Given the description of an element on the screen output the (x, y) to click on. 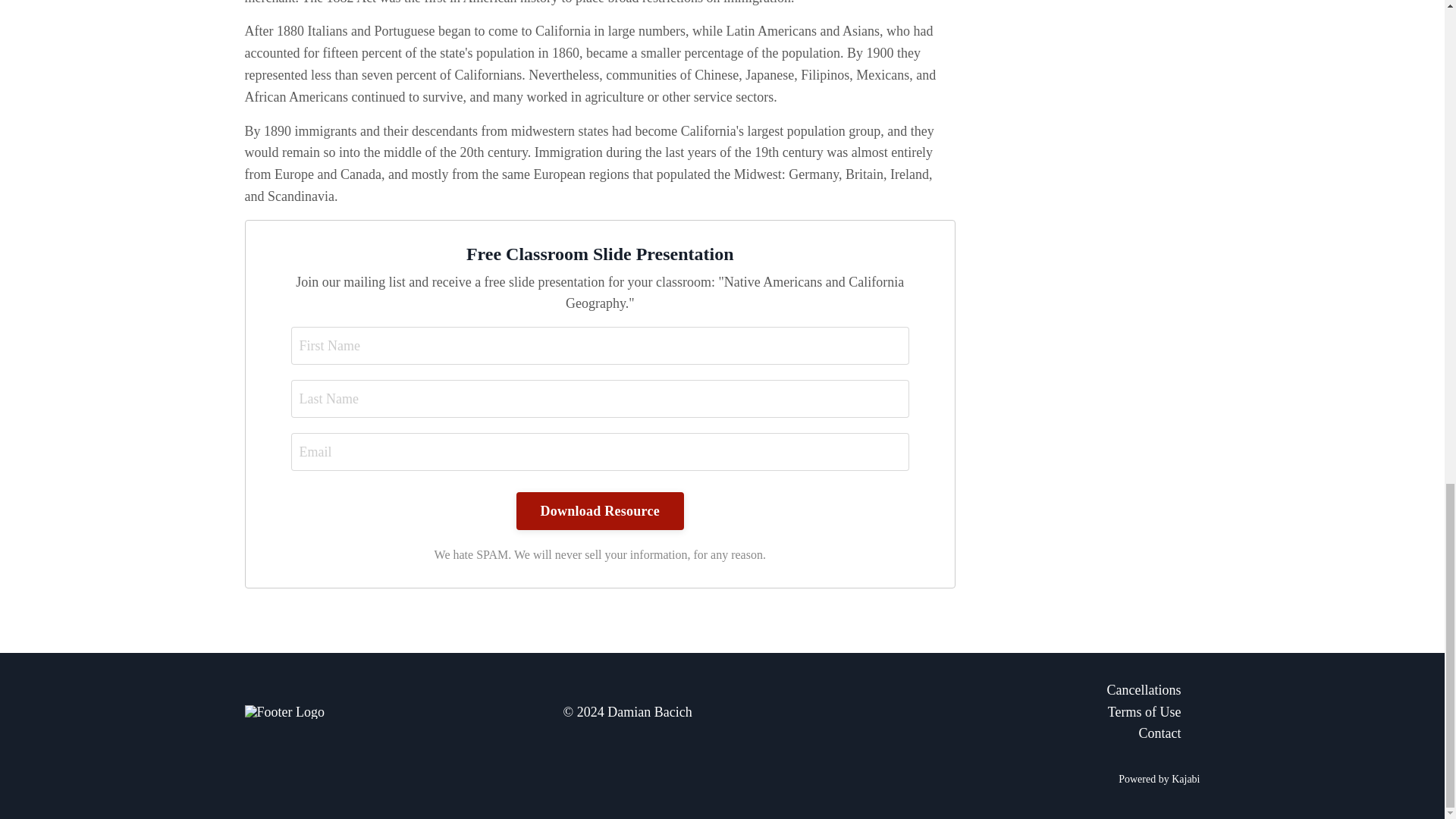
Cancellations (949, 690)
Powered by Kajabi (1158, 778)
Contact (949, 733)
Download Resource (600, 510)
Download Resource (600, 510)
Terms of Use (949, 712)
